Given the description of an element on the screen output the (x, y) to click on. 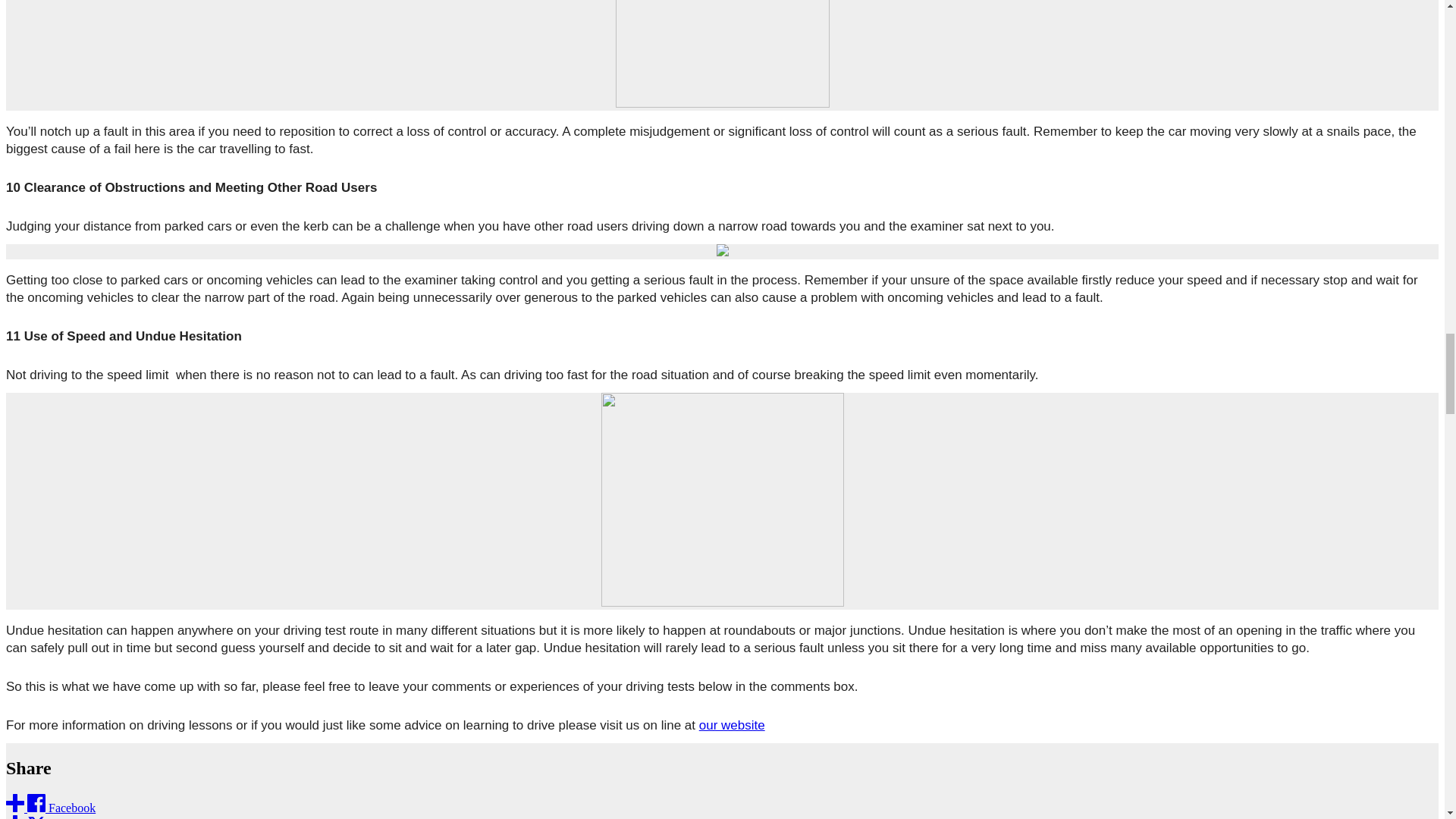
Facebook (50, 807)
our website (731, 725)
